Given the description of an element on the screen output the (x, y) to click on. 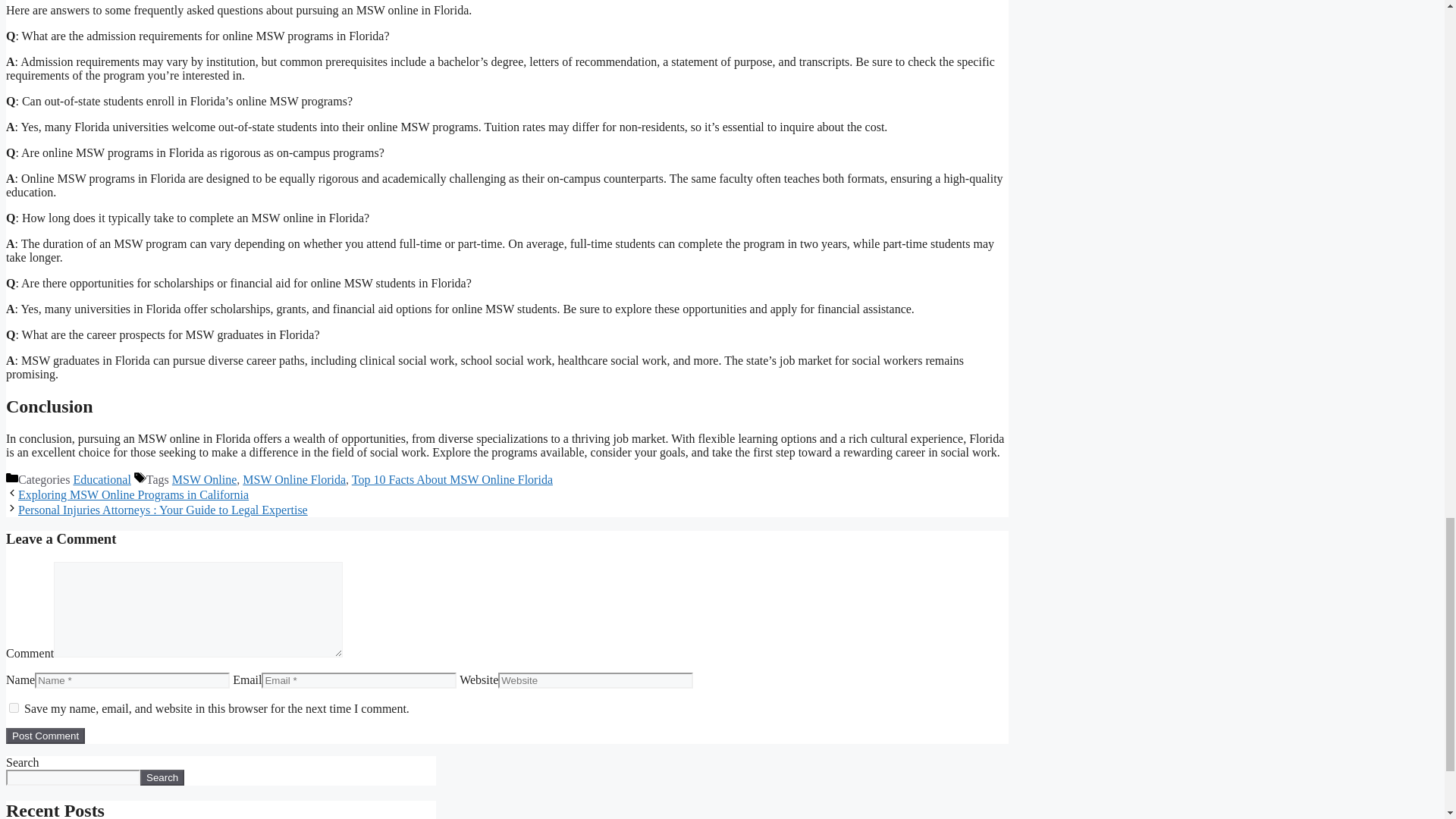
yes (13, 707)
Exploring MSW Online Programs in California (132, 494)
Post Comment (44, 735)
Personal Injuries Attorneys : Your Guide to Legal Expertise (162, 509)
Post Comment (44, 735)
Educational (101, 479)
Top 10 Facts About MSW Online Florida (452, 479)
Search (161, 777)
MSW Online Florida (294, 479)
MSW Online (203, 479)
